Given the description of an element on the screen output the (x, y) to click on. 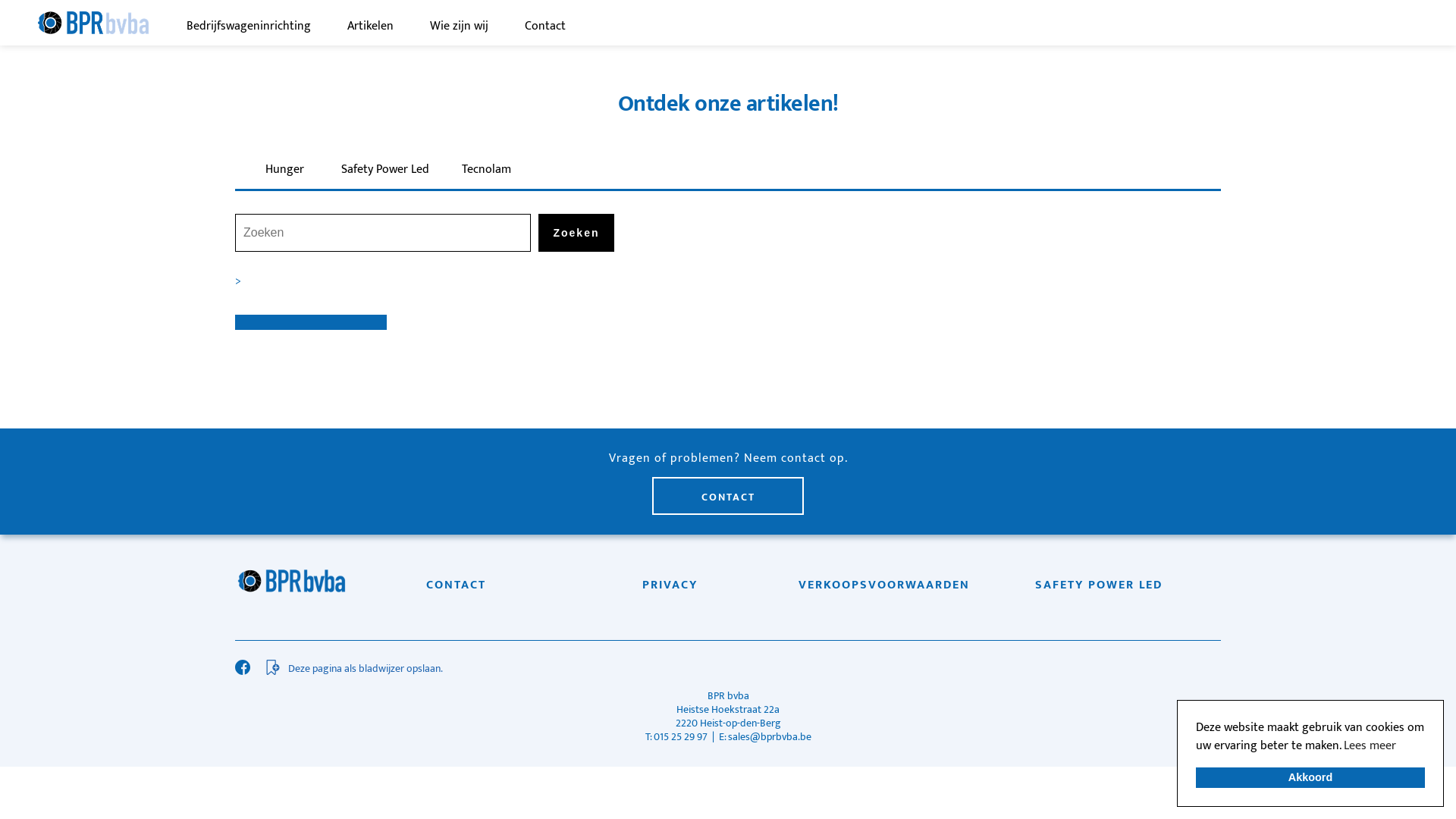
Deze pagina als bladwijzer opslaan. Element type: text (735, 668)
Wie zijn wij Element type: text (458, 26)
Tecnolam Element type: text (485, 169)
Safety Power Led Element type: text (384, 169)
CONTACT Element type: text (727, 495)
Bedrijfswageninrichting Element type: text (248, 26)
CONTACT Element type: text (455, 585)
SAFETY POWER LED Element type: text (1098, 585)
VERKOOPSVOORWAARDEN Element type: text (884, 585)
Lees meer Element type: text (1369, 746)
Artikelen Element type: text (370, 26)
Akkoord Element type: text (1309, 777)
sales@bprbvba.be Element type: text (769, 736)
015 25 29 97 Element type: text (681, 736)
Hunger Element type: text (284, 169)
PRIVACY Element type: text (669, 585)
Zoeken Element type: text (576, 232)
Contact Element type: text (544, 26)
